Given the description of an element on the screen output the (x, y) to click on. 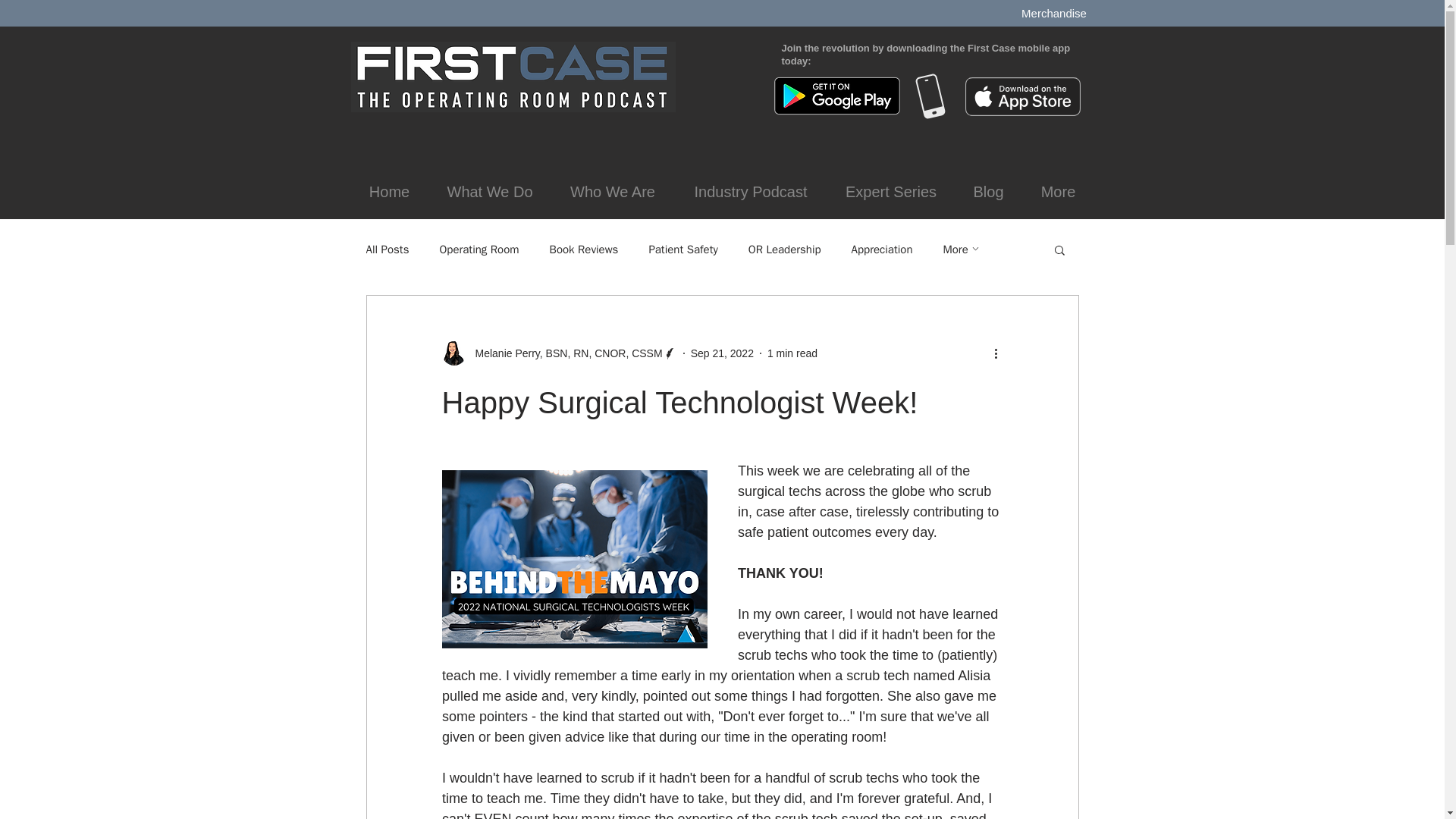
Blog (987, 192)
Sep 21, 2022 (722, 353)
Merchandise (1054, 13)
Expert Series (890, 192)
1 min read (791, 353)
All Posts (387, 249)
Melanie Perry, BSN, RN, CNOR, CSSM (559, 353)
Book Reviews (584, 249)
Appreciation (881, 249)
Operating Room (478, 249)
Patient Safety (682, 249)
Melanie Perry, BSN, RN, CNOR, CSSM (563, 353)
Home (389, 192)
OR Leadership (784, 249)
